Given the description of an element on the screen output the (x, y) to click on. 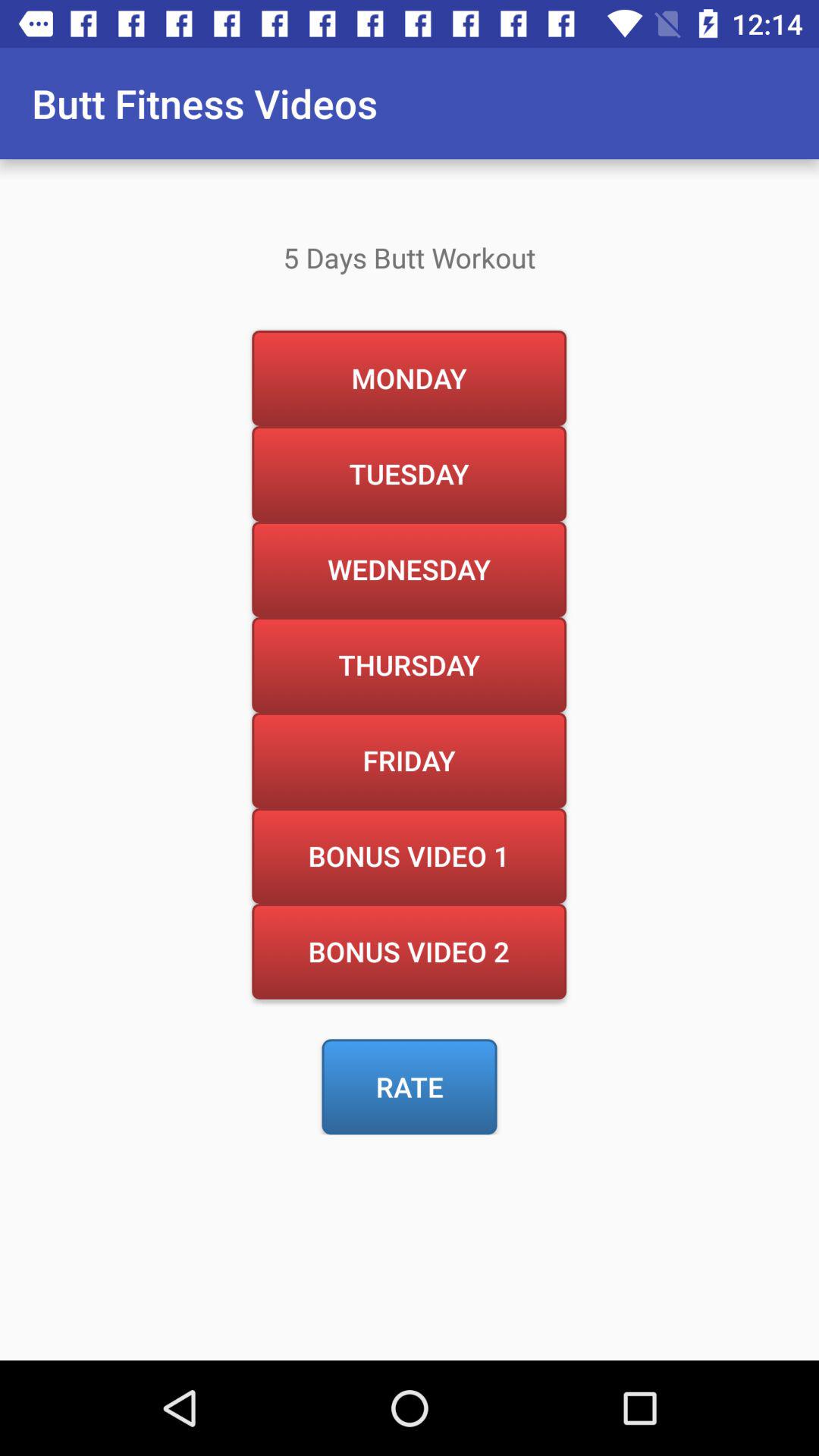
select the wednesday (408, 569)
